Given the description of an element on the screen output the (x, y) to click on. 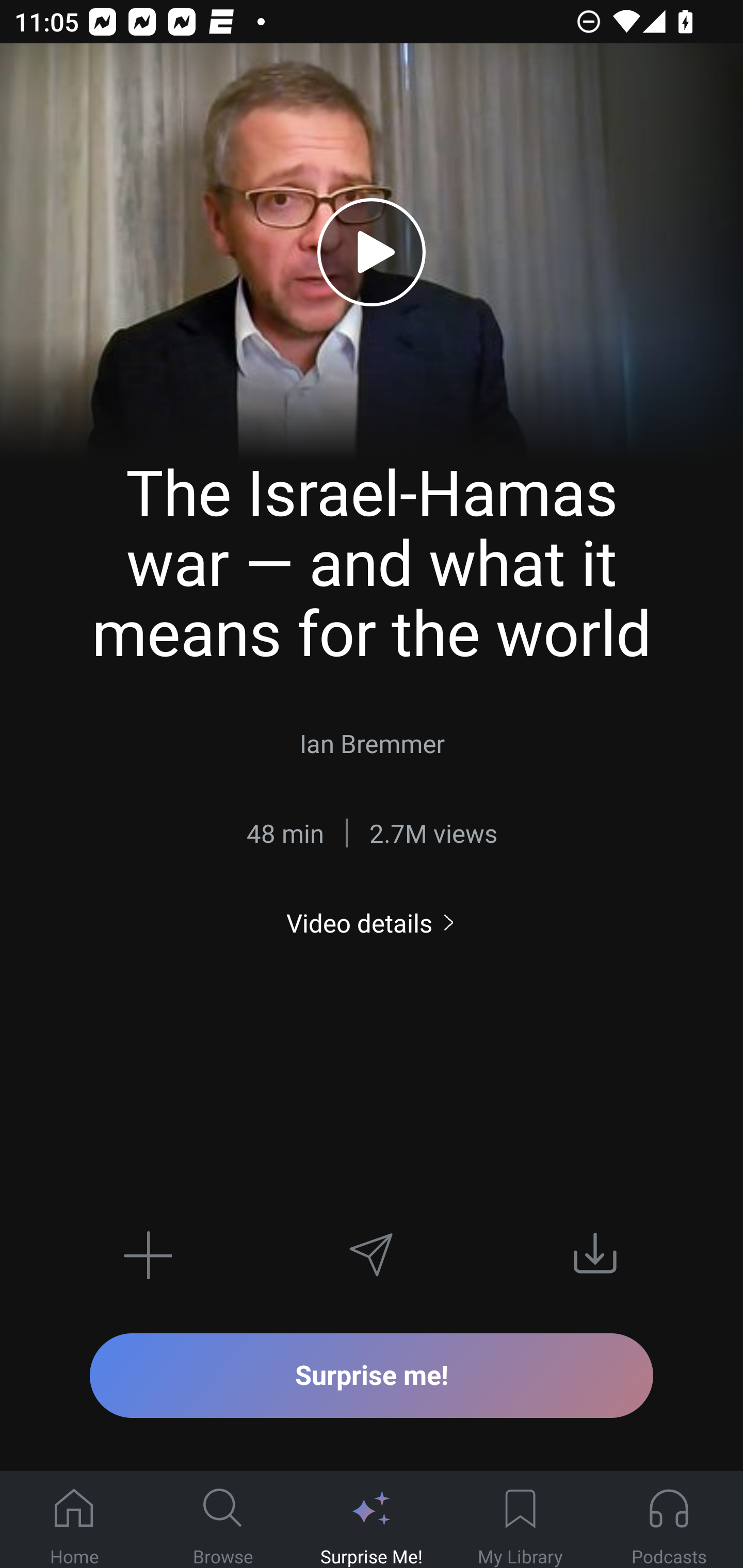
Video details (371, 922)
Surprise me! (371, 1374)
Home (74, 1520)
Browse (222, 1520)
Surprise Me! (371, 1520)
My Library (519, 1520)
Podcasts (668, 1520)
